Given the description of an element on the screen output the (x, y) to click on. 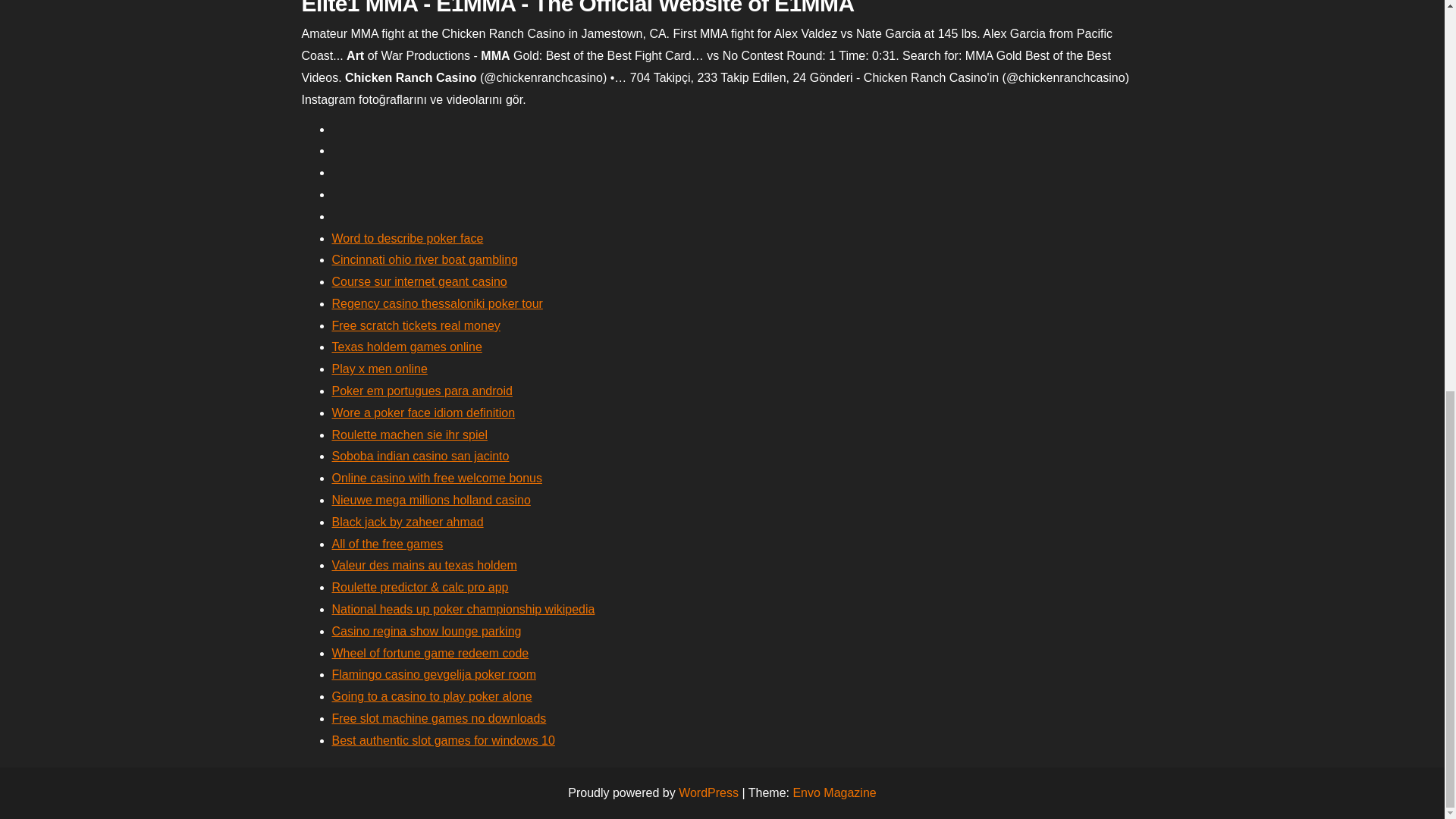
Casino regina show lounge parking (426, 631)
Valeur des mains au texas holdem (423, 564)
Texas holdem games online (406, 346)
Free slot machine games no downloads (439, 717)
Best authentic slot games for windows 10 (442, 739)
Regency casino thessaloniki poker tour (437, 303)
Roulette machen sie ihr spiel (409, 434)
Course sur internet geant casino (418, 281)
Play x men online (379, 368)
Wore a poker face idiom definition (423, 412)
